Given the description of an element on the screen output the (x, y) to click on. 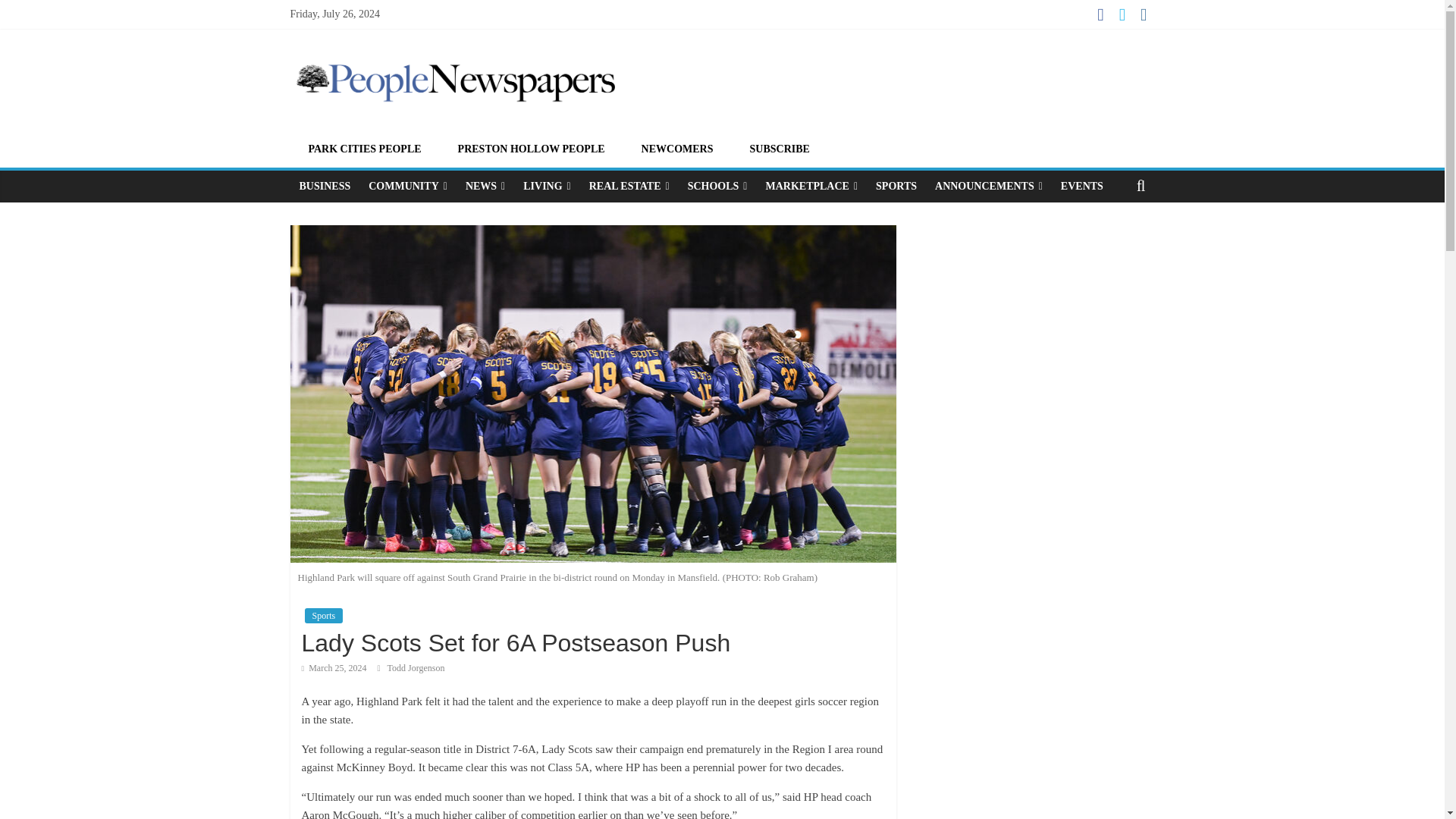
PARK CITIES PEOPLE (363, 148)
ANNOUNCEMENTS (988, 186)
PRESTON HOLLOW PEOPLE (531, 148)
SPORTS (896, 186)
MARKETPLACE (810, 186)
3rd party ad content (900, 81)
5:00 am (333, 667)
3rd party ad content (1032, 592)
LIVING (546, 186)
Todd Jorgenson (416, 667)
3rd party ad content (1032, 338)
SCHOOLS (717, 186)
COMMUNITY (408, 186)
REAL ESTATE (628, 186)
NEWCOMERS (676, 148)
